Given the description of an element on the screen output the (x, y) to click on. 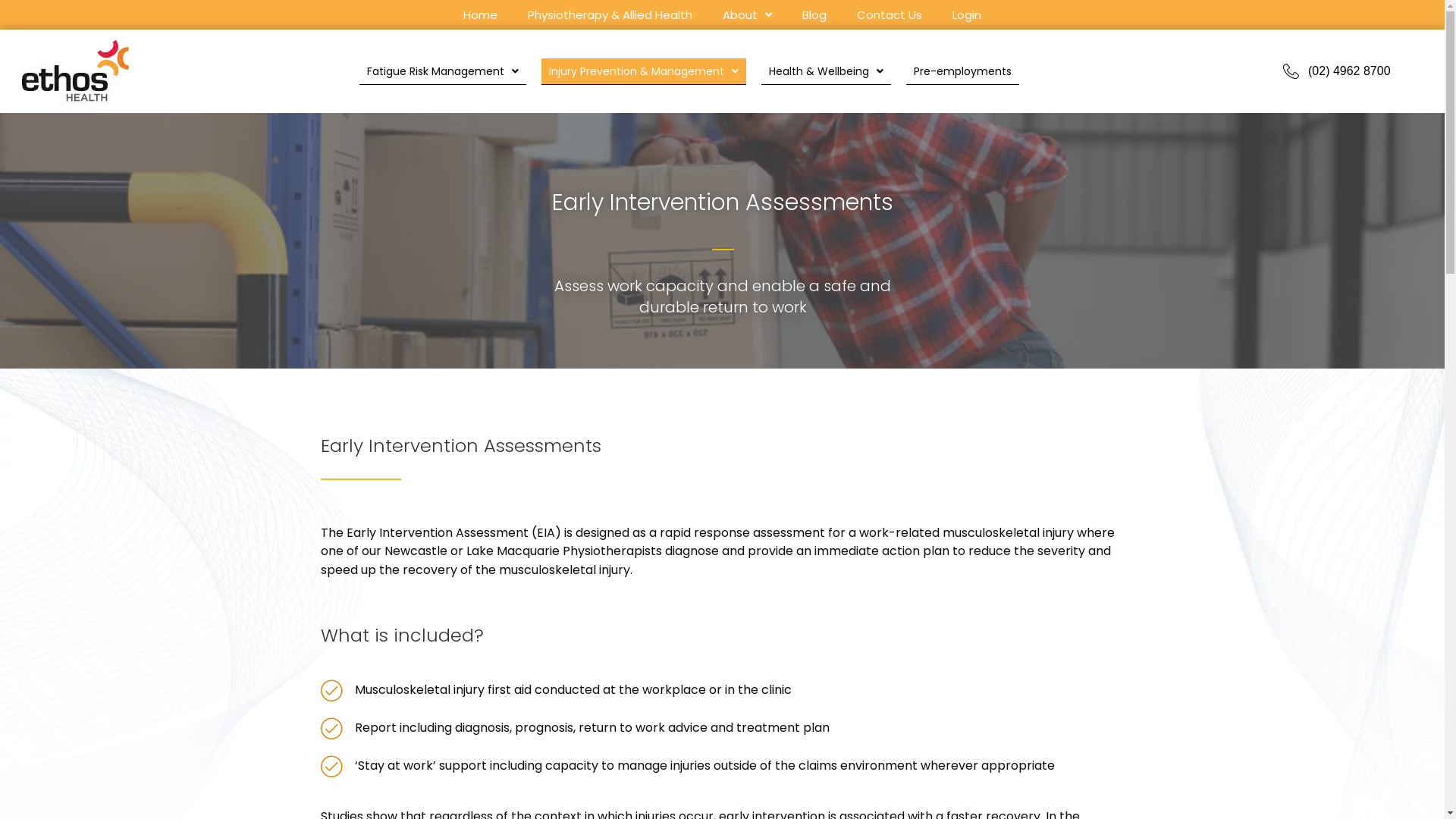
logo_medium-4 Element type: hover (74, 71)
(02) 4962 8700 Element type: text (1336, 70)
About Element type: text (747, 16)
Pre-employments Element type: text (962, 70)
Contact Us Element type: text (889, 16)
Login Element type: text (966, 16)
Fatigue Risk Management Element type: text (442, 70)
Physiotherapy & Allied Health Element type: text (609, 16)
Injury Prevention & Management Element type: text (643, 70)
Home Element type: text (480, 16)
Blog Element type: text (814, 16)
Health & Wellbeing Element type: text (826, 70)
